Given the description of an element on the screen output the (x, y) to click on. 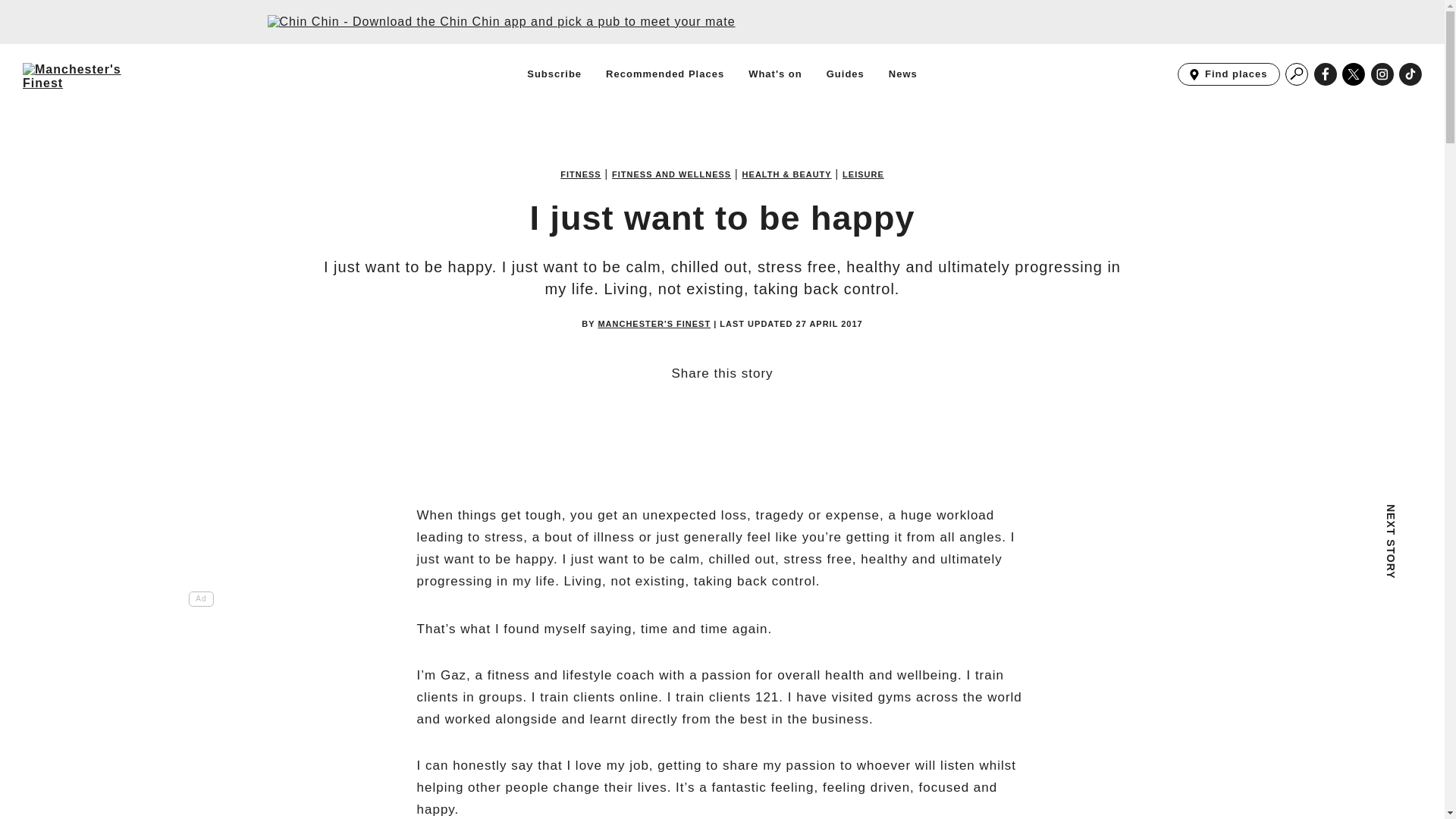
News (902, 73)
LEISURE (863, 174)
Search Manchester's Finest (1228, 74)
Guides (1296, 74)
MANCHESTER'S FINEST (845, 73)
Go to Manchester's Finest X profile (653, 324)
Go to Manchester's Finest TikTok profile (1353, 74)
FITNESS AND WELLNESS (1410, 74)
Go to Manchester's Finest Instagram profile (670, 174)
Go to Manchester's Finest TikTok profile (1382, 74)
Go to Manchester's Finest X profile (1410, 74)
Recommended Places (1353, 74)
What's on (664, 73)
Subscribe (775, 73)
